Given the description of an element on the screen output the (x, y) to click on. 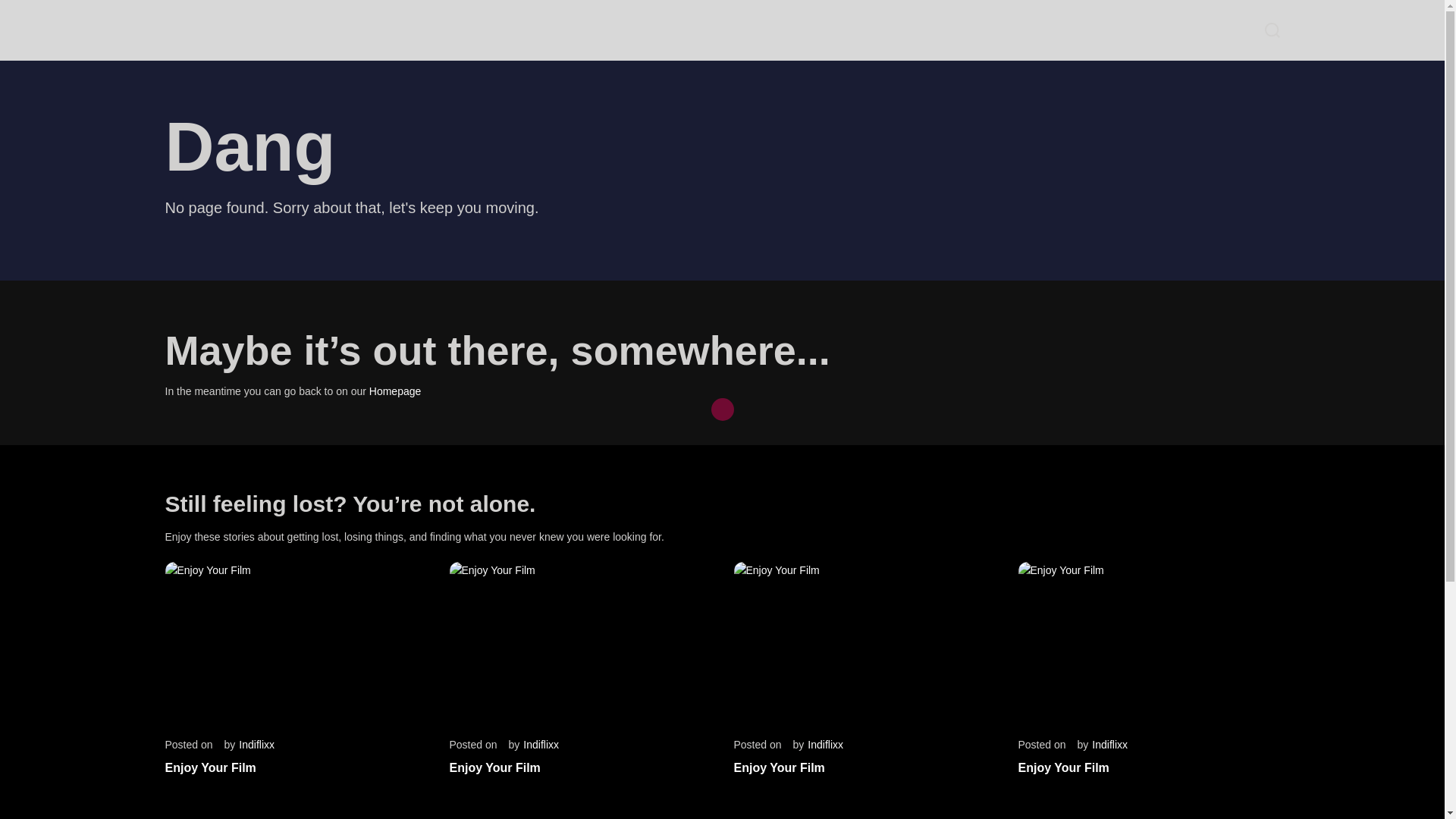
Indiflixx (540, 744)
Enjoy Your Film (779, 767)
Search (1272, 29)
Enjoy Your Film (1062, 767)
Indiflixx (825, 744)
Indiflixx (1109, 744)
Homepage (395, 390)
Indiflixx (256, 744)
Enjoy Your Film (494, 767)
Enjoy Your Film (210, 767)
